Given the description of an element on the screen output the (x, y) to click on. 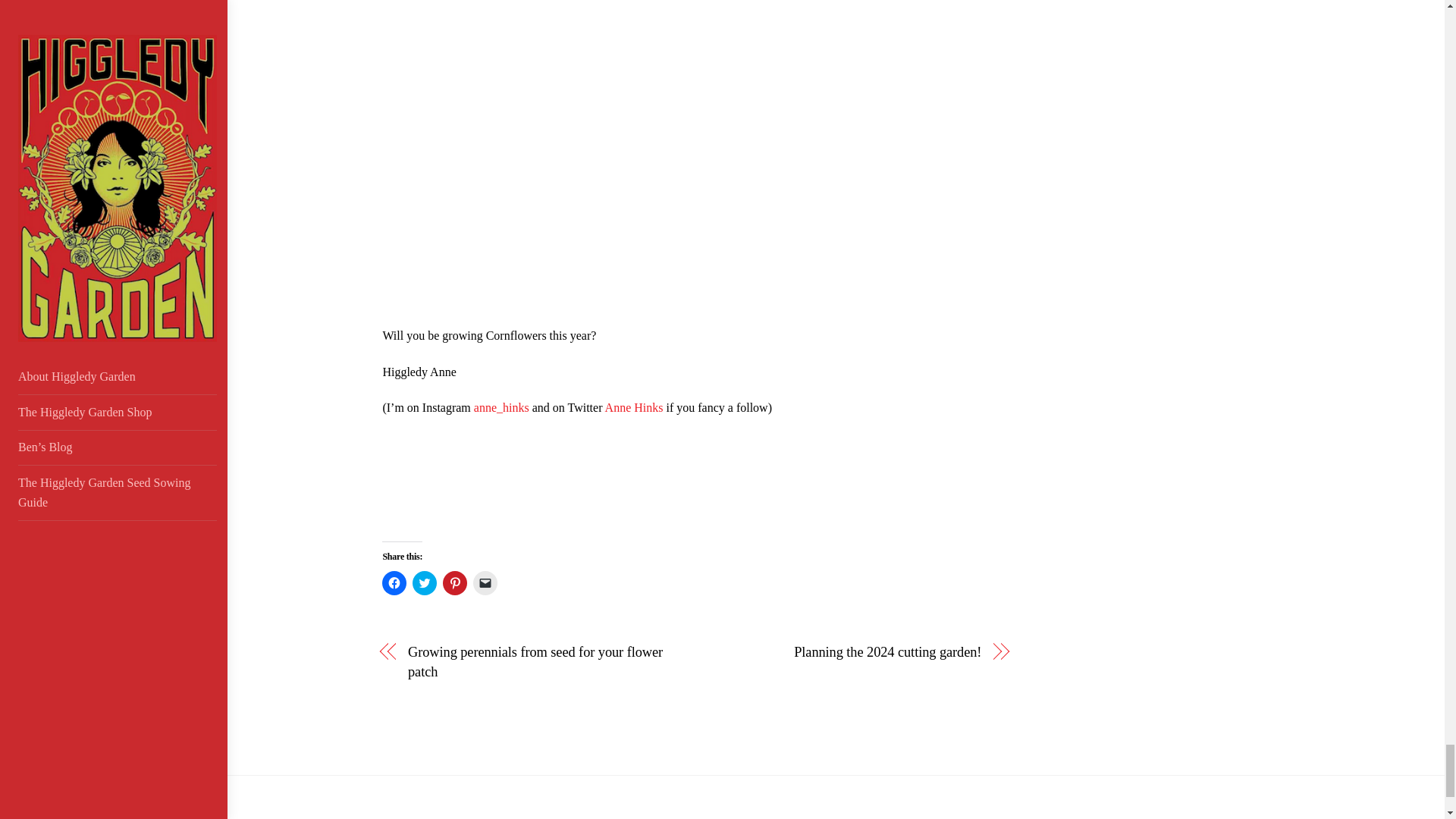
Growing perennials from seed for your flower patch (541, 662)
Click to share on Twitter (424, 582)
Click to share on Facebook (393, 582)
Click to email a link to a friend (485, 582)
Click to share on Pinterest (454, 582)
Anne Hinks (634, 407)
Planning the 2024 cutting garden! (847, 651)
